Given the description of an element on the screen output the (x, y) to click on. 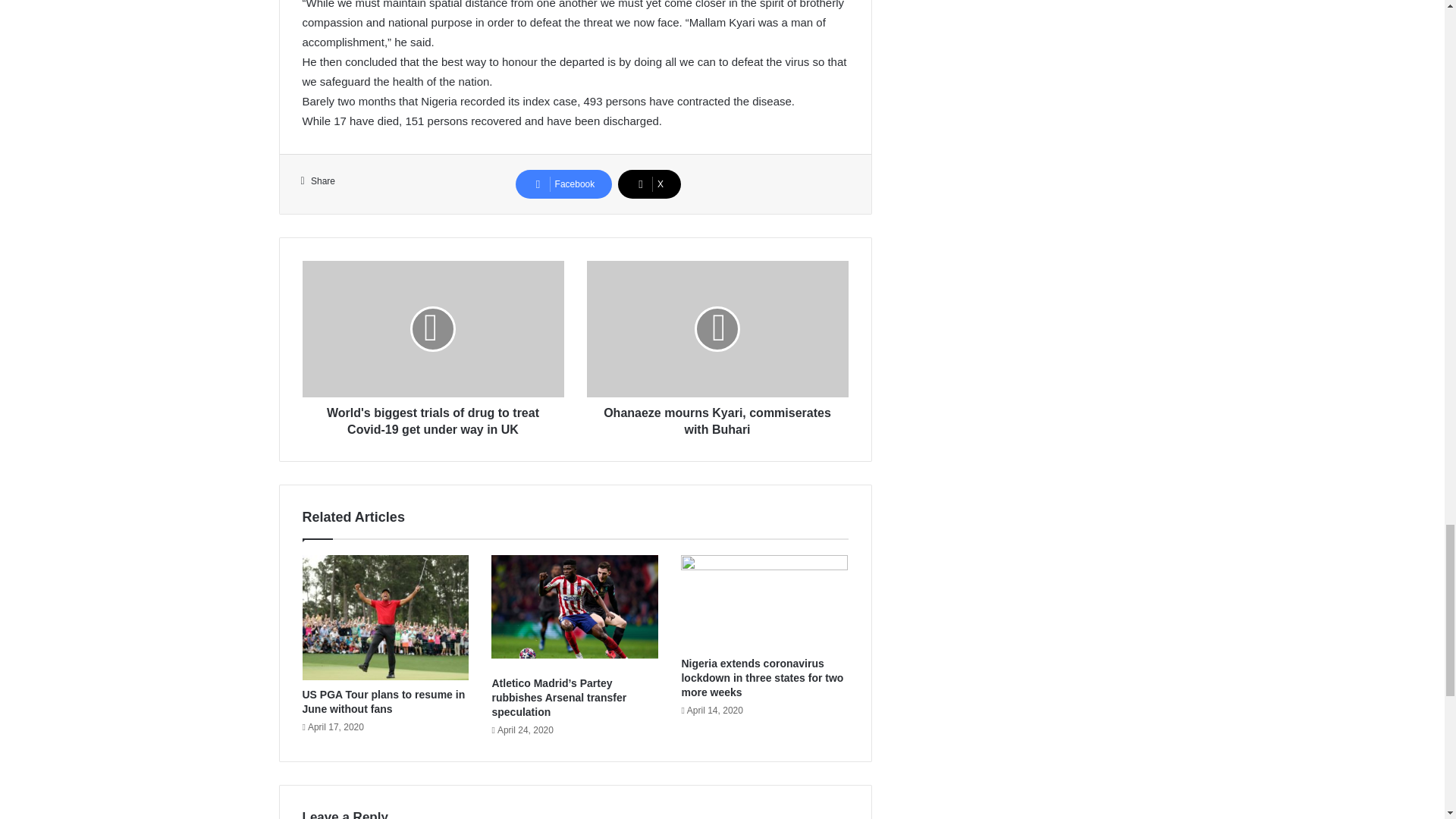
X (649, 184)
US PGA Tour plans to resume in June without fans (382, 701)
Facebook (563, 184)
Facebook (563, 184)
X (649, 184)
Ohanaeze mourns Kyari, commiserates with Buhari (717, 417)
